Given the description of an element on the screen output the (x, y) to click on. 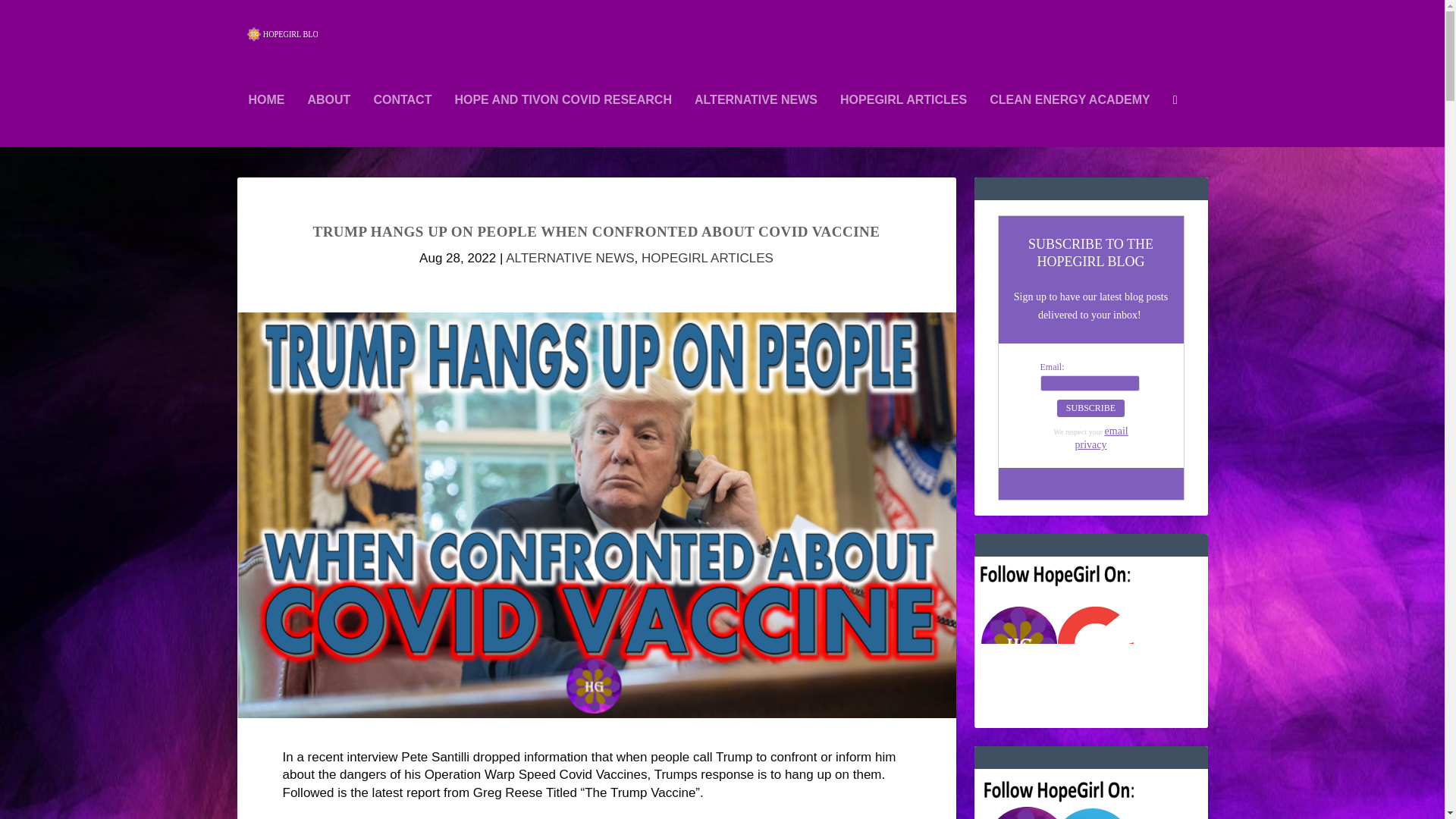
HOPEGIRL ARTICLES (707, 257)
ALTERNATIVE NEWS (755, 120)
HOPEGIRL ARTICLES (903, 120)
CLEAN ENERGY ACADEMY (1070, 120)
email privacy (1101, 437)
CONTACT (401, 120)
ALTERNATIVE NEWS (569, 257)
SUBSCRIBE (1090, 407)
Privacy Policy (1101, 437)
HOPE AND TIVON COVID RESEARCH (562, 120)
